Given the description of an element on the screen output the (x, y) to click on. 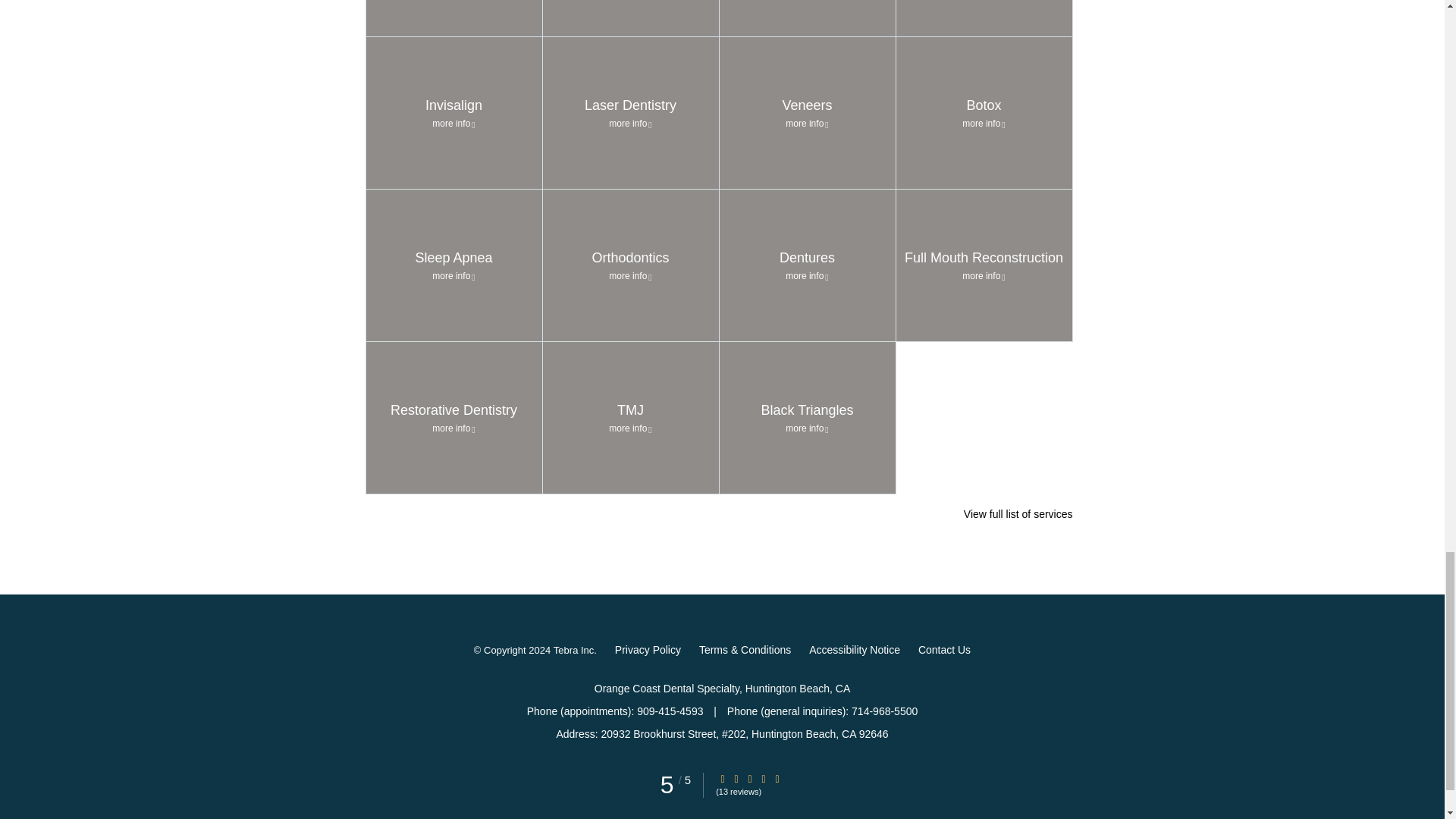
Star Rating (777, 778)
Star Rating (722, 778)
Star Rating (735, 778)
Star Rating (763, 778)
Star Rating (749, 778)
